Given the description of an element on the screen output the (x, y) to click on. 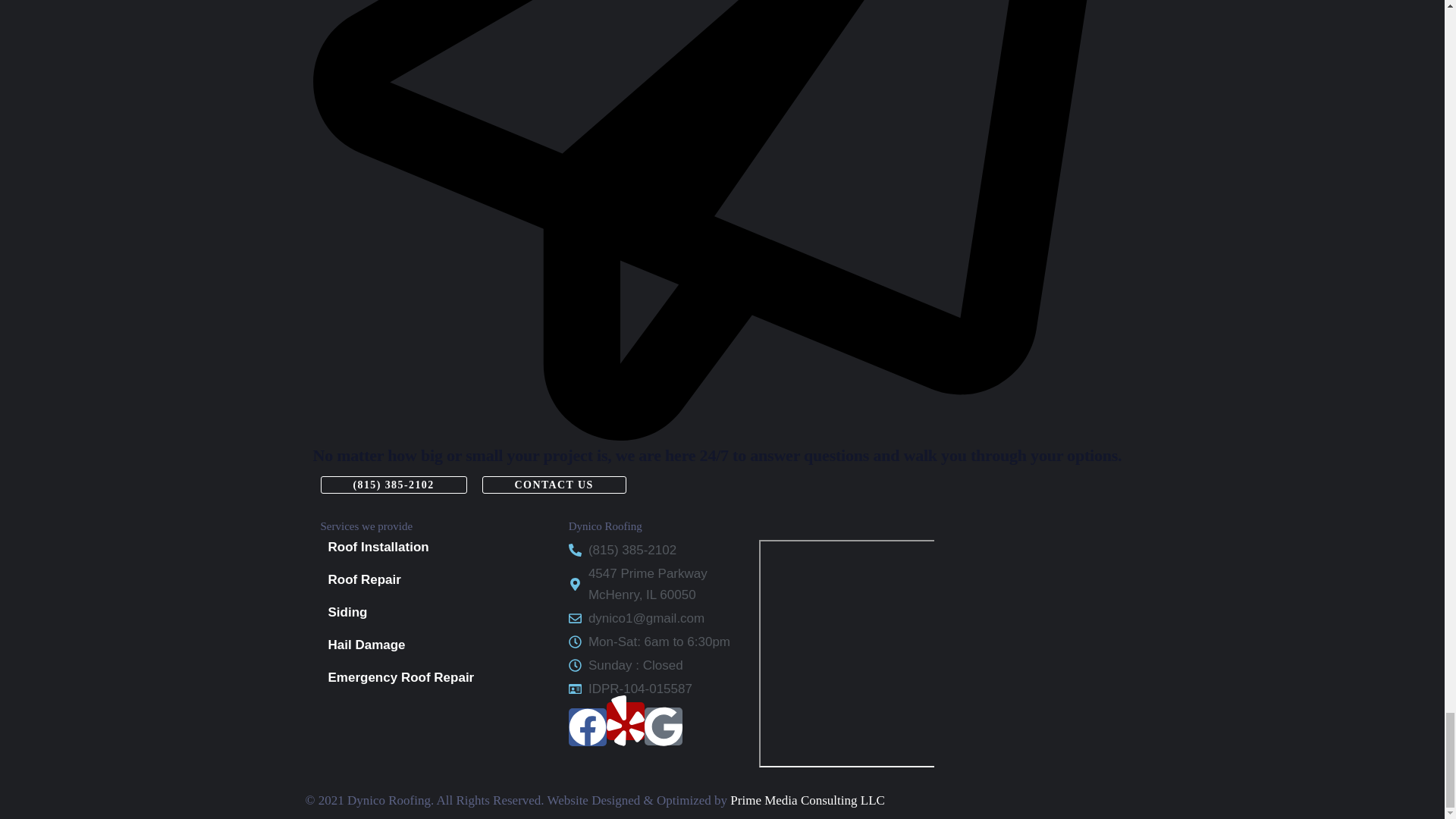
Dynico Roofing McHenry, IL (874, 653)
